Given the description of an element on the screen output the (x, y) to click on. 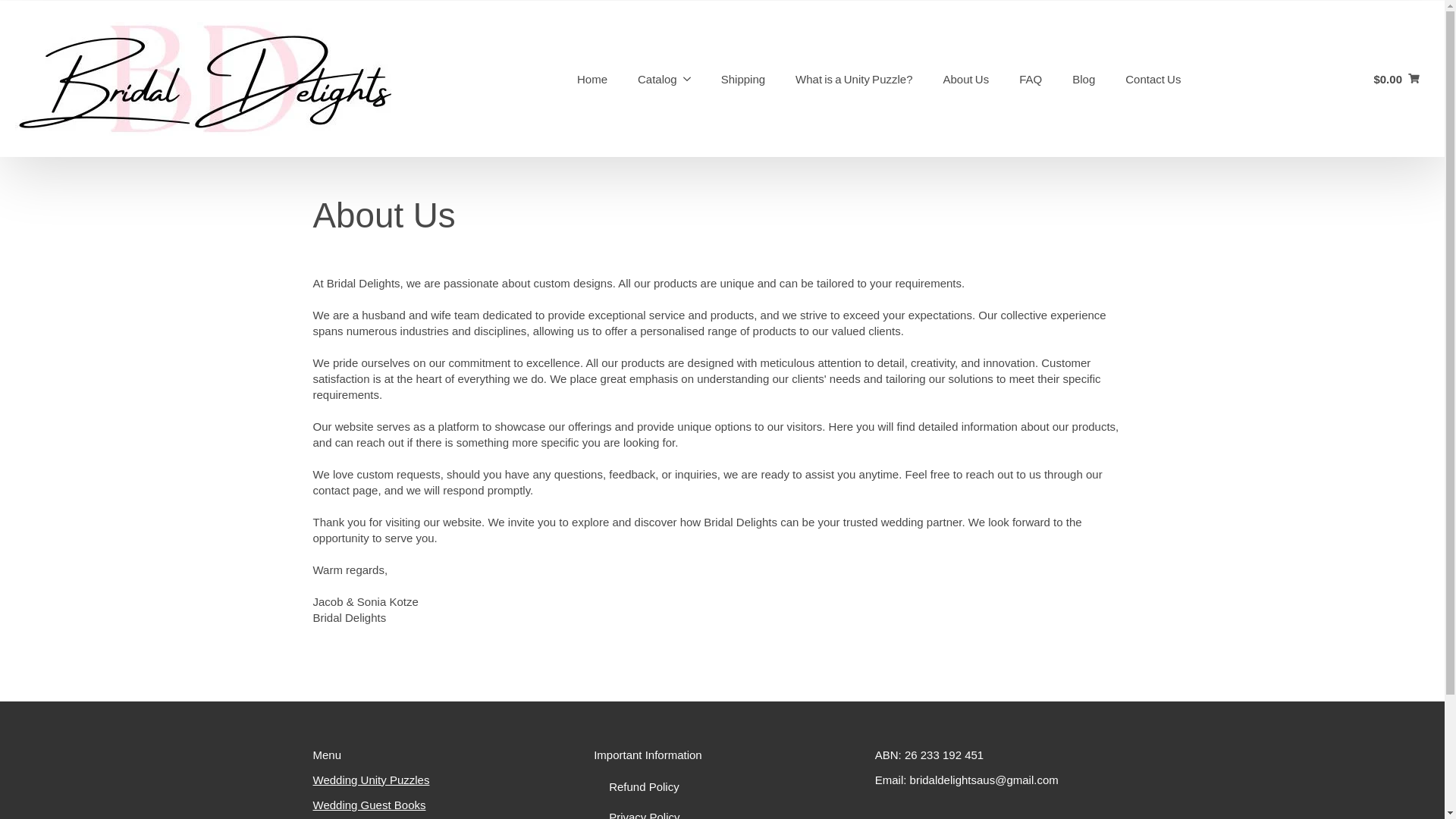
FAQ (1030, 78)
Wedding Unity Puzzles (371, 779)
Catalog (650, 78)
What is a Unity Puzzle? (853, 78)
Contact Us (1152, 78)
Wedding Guest Books (369, 804)
About Us (966, 78)
Refund Policy (722, 787)
Blog (1083, 78)
Home (592, 78)
Privacy Policy (722, 810)
Shipping (743, 78)
